Given the description of an element on the screen output the (x, y) to click on. 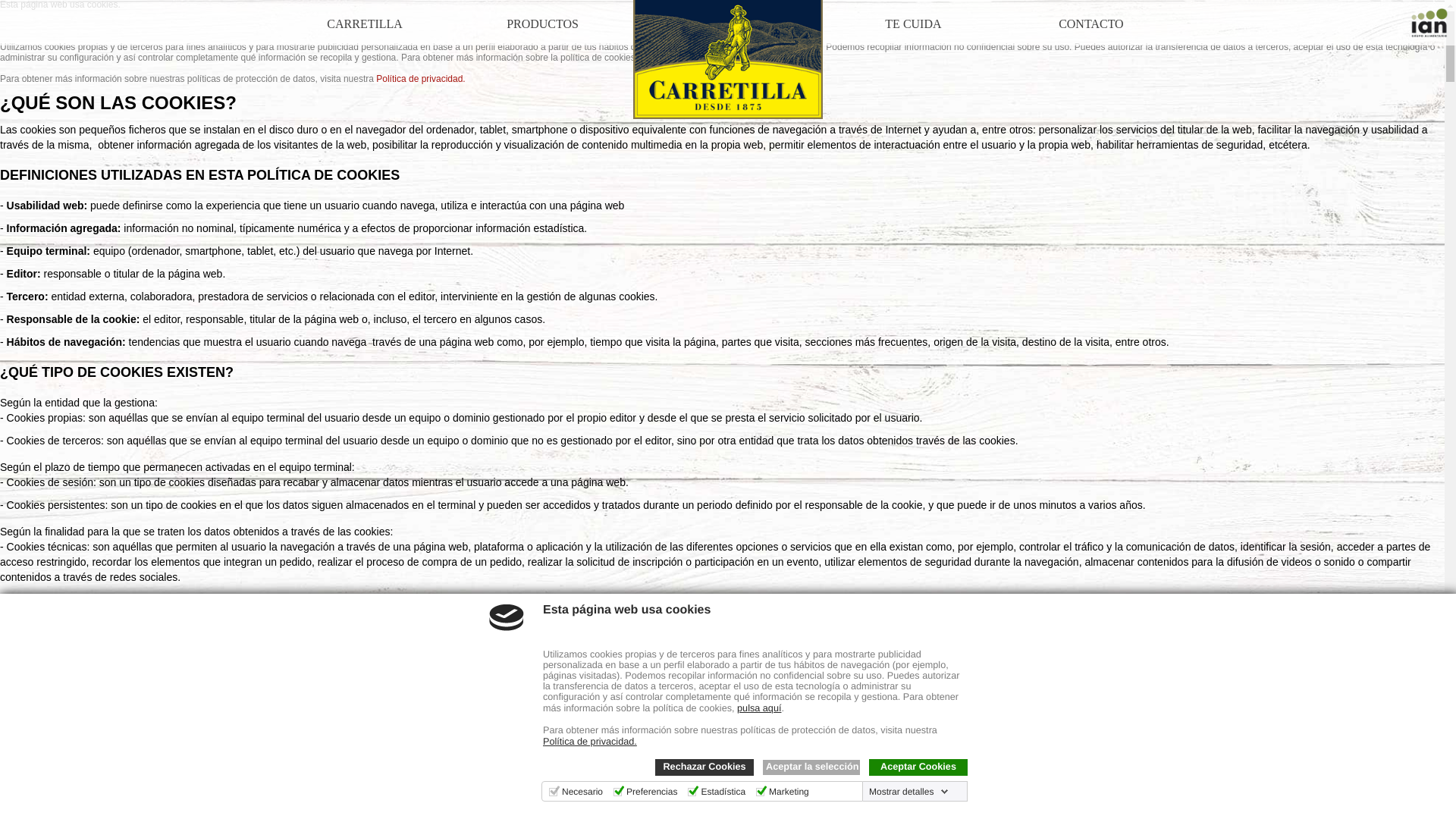
Cookiebot (298, 814)
Cambiar tu consentimiento (72, 790)
Cookiebot (298, 814)
